Given the description of an element on the screen output the (x, y) to click on. 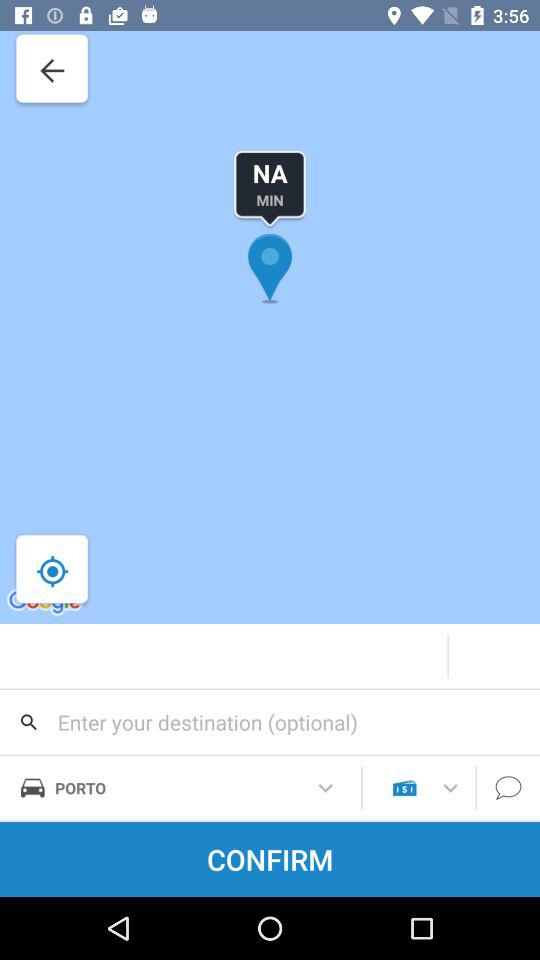
search for destination (270, 722)
